Given the description of an element on the screen output the (x, y) to click on. 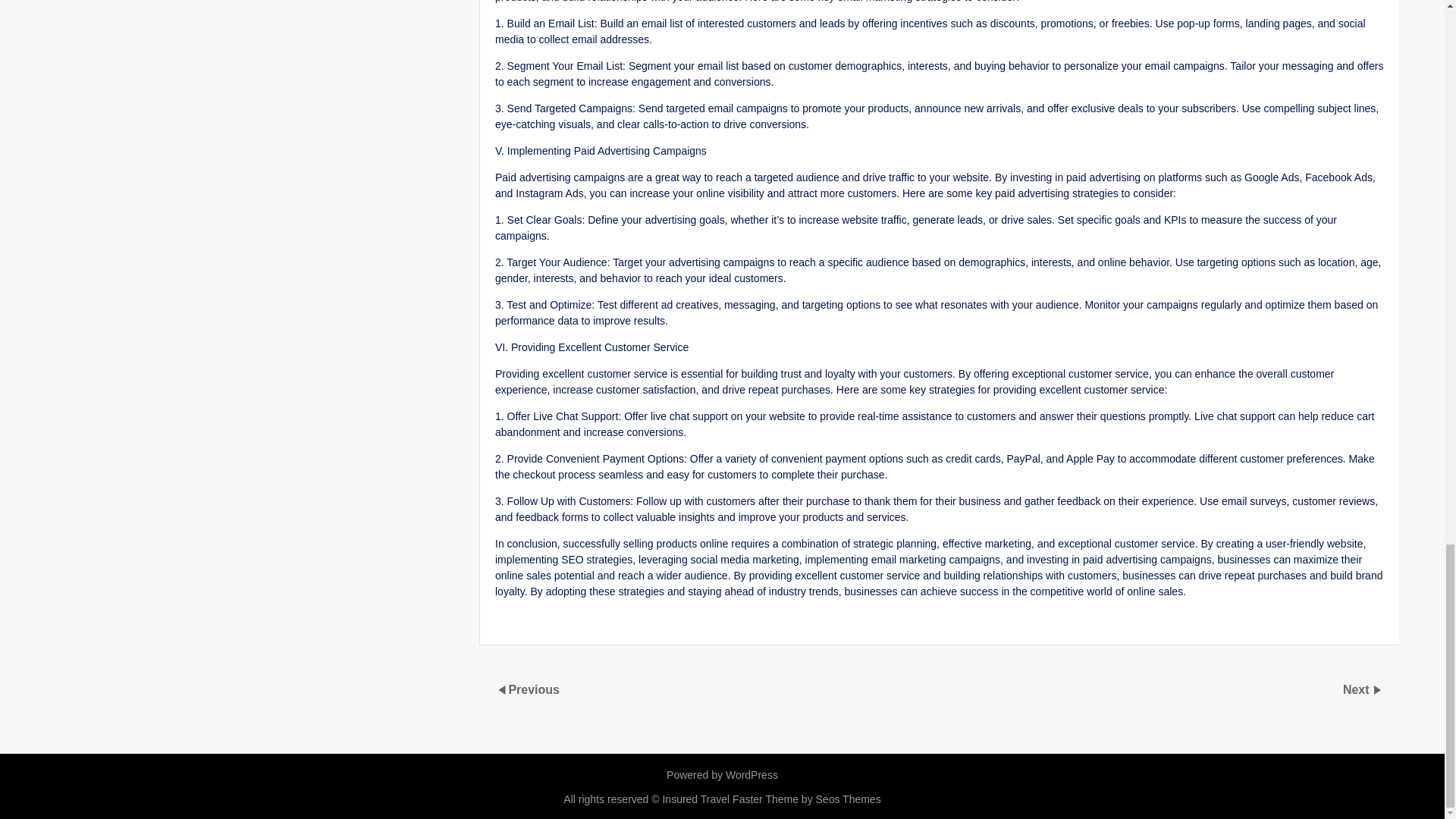
Next (1357, 689)
Strategies (856, 625)
Online (683, 625)
Previous (533, 689)
Successfully (922, 625)
Outlook (532, 625)
Mamah Muda (609, 625)
Seos Theme - Faster (806, 799)
Sell (770, 625)
Selling (806, 625)
Products (730, 625)
